Given the description of an element on the screen output the (x, y) to click on. 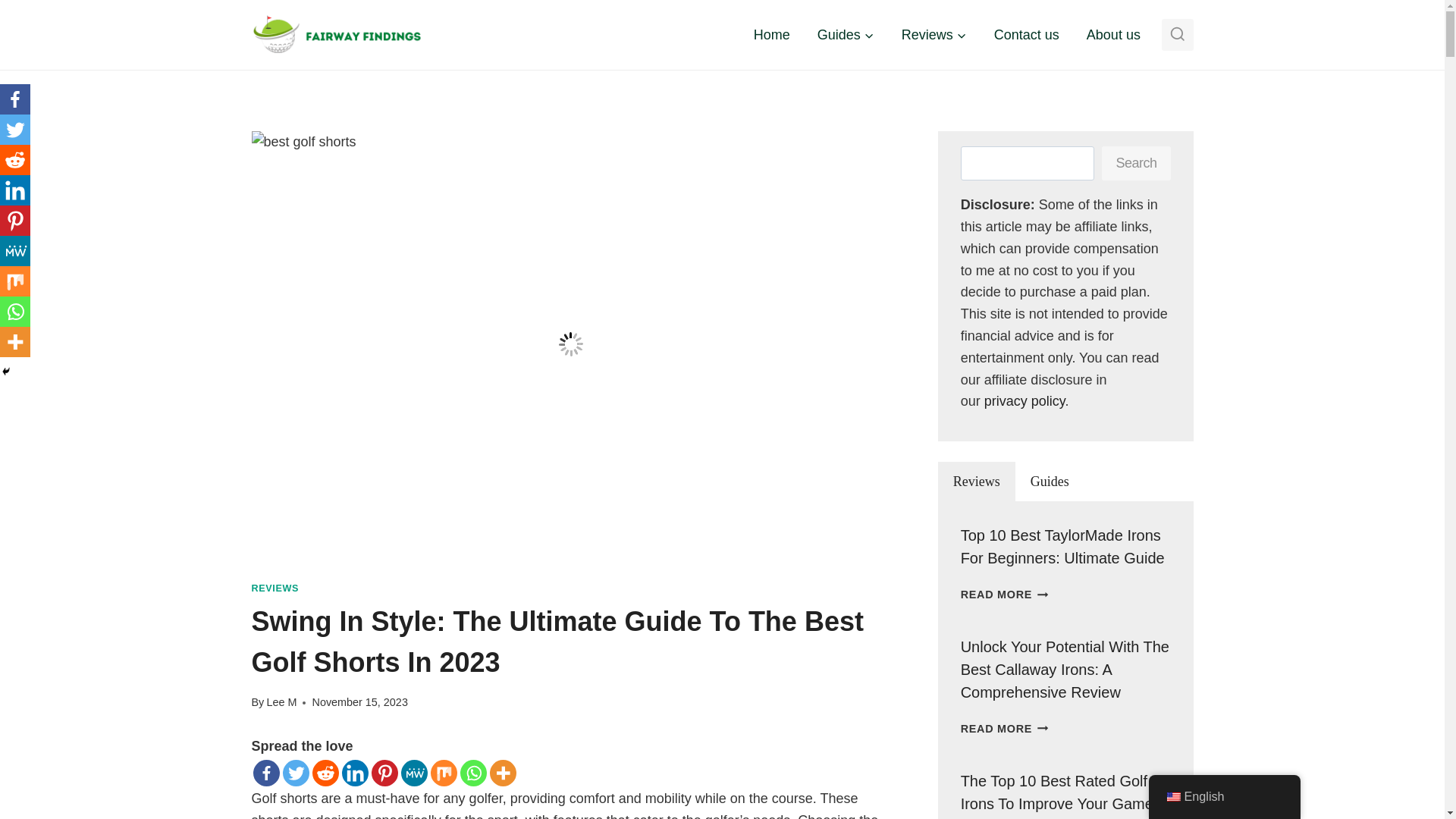
MeWe (413, 773)
Facebook (266, 773)
Twitter (295, 773)
Whatsapp (473, 773)
Guides (845, 34)
Linkedin (354, 773)
More (502, 773)
Mix (443, 773)
Reviews (933, 34)
Reddit (326, 773)
About us (1113, 34)
Home (771, 34)
Lee M (281, 702)
REVIEWS (275, 588)
Contact us (1026, 34)
